Given the description of an element on the screen output the (x, y) to click on. 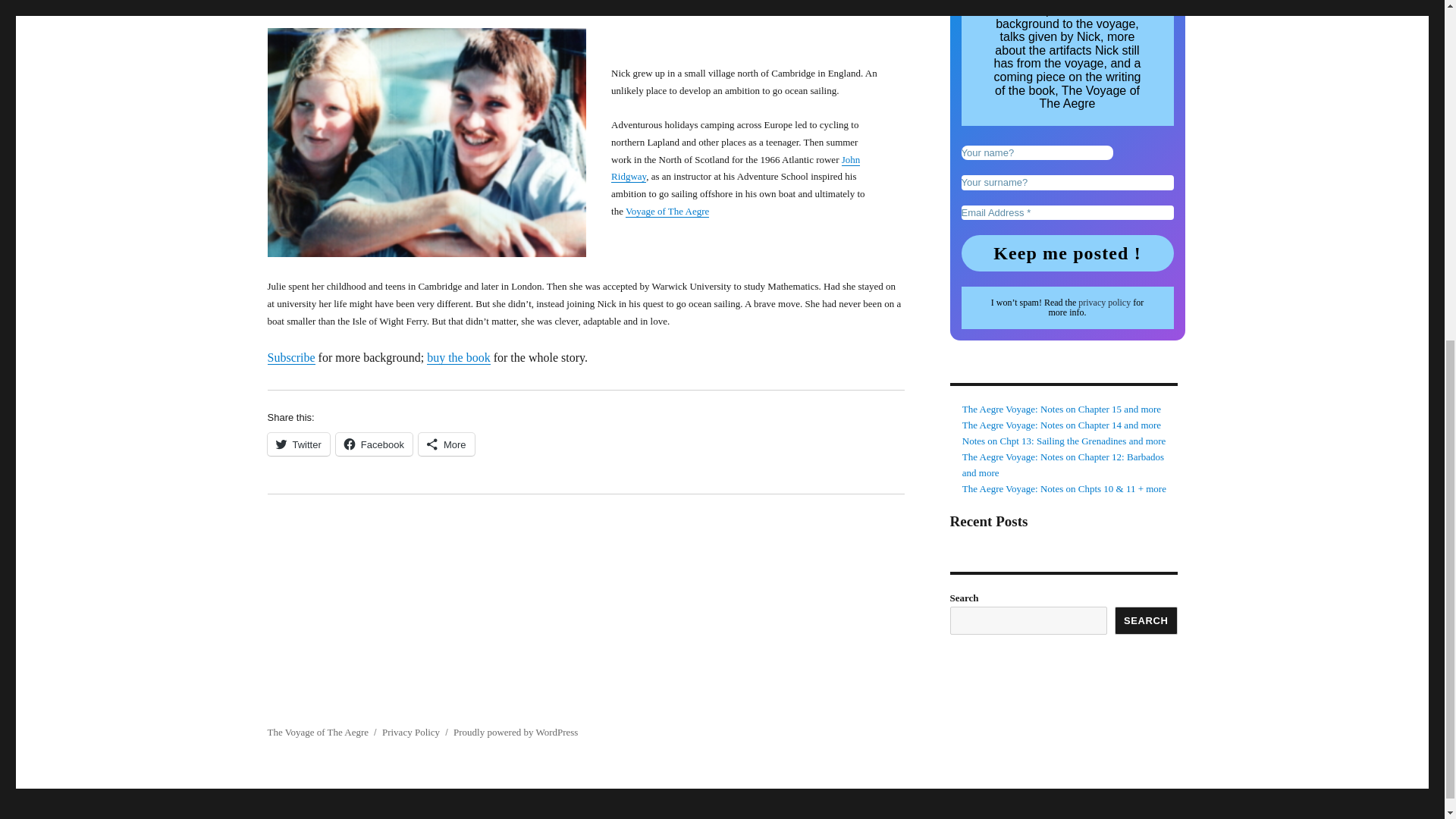
Your surname? (1066, 182)
Subscribe to The Voyage of The Aegre website (290, 357)
Click to share on Facebook (374, 444)
Email Address (1066, 212)
Keep me posted ! (1066, 253)
Click to share on Twitter (297, 444)
Your name? (1036, 152)
